Given the description of an element on the screen output the (x, y) to click on. 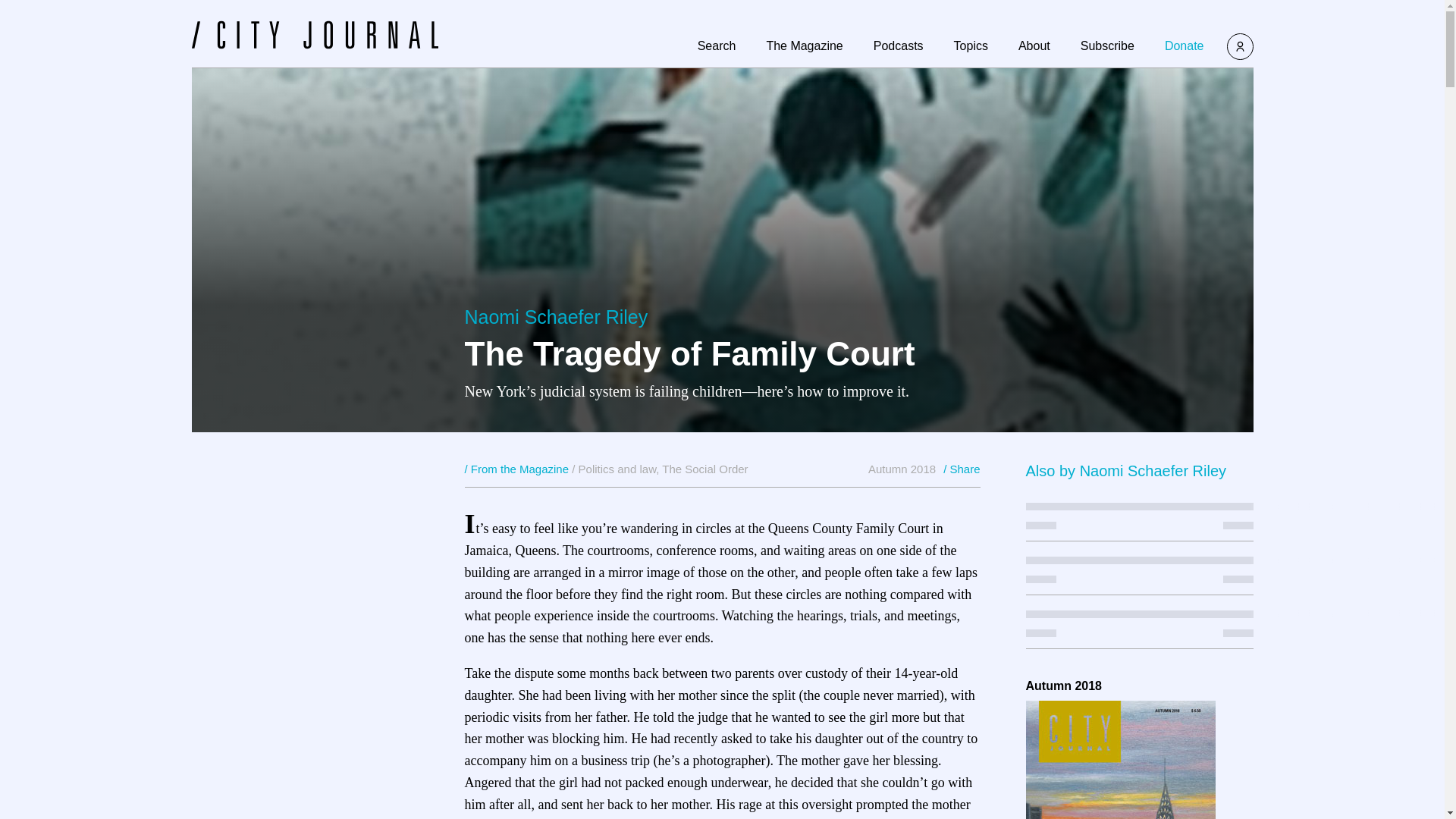
Politics and law (617, 468)
Search (716, 46)
The Social Order (705, 468)
Topics (970, 46)
Autumn 2018 (901, 468)
Naomi Schaefer Riley (555, 316)
Podcasts (898, 46)
Donate (1184, 46)
About (1033, 46)
The Magazine (804, 46)
